Given the description of an element on the screen output the (x, y) to click on. 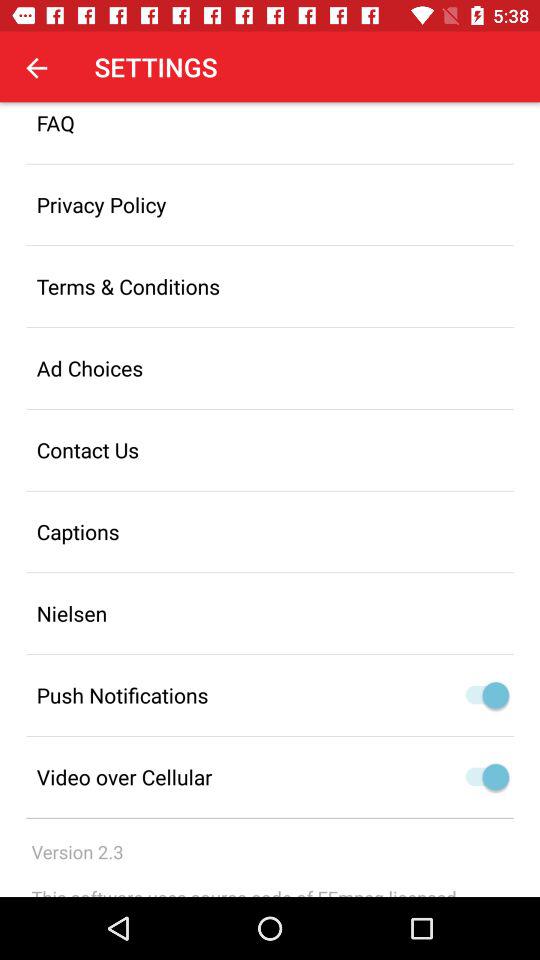
toggle push notifications (495, 695)
